Given the description of an element on the screen output the (x, y) to click on. 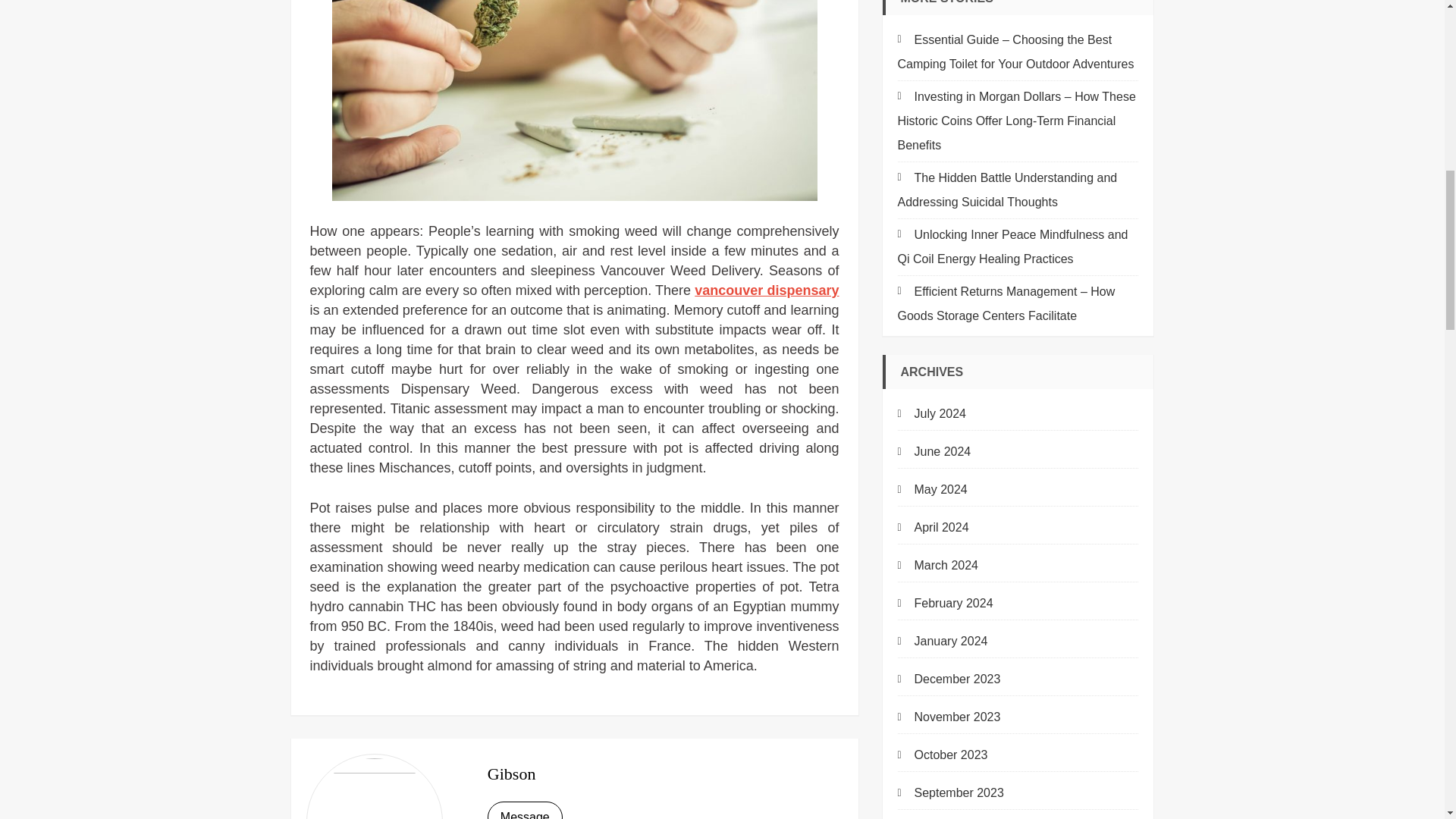
June 2024 (934, 451)
March 2024 (938, 565)
Posts by Gibson (511, 773)
November 2023 (949, 717)
February 2024 (945, 603)
May 2024 (933, 489)
vancouver dispensary (766, 290)
January 2024 (943, 641)
October 2023 (943, 754)
September 2023 (951, 793)
Message (524, 810)
December 2023 (949, 679)
Gibson (511, 773)
